Given the description of an element on the screen output the (x, y) to click on. 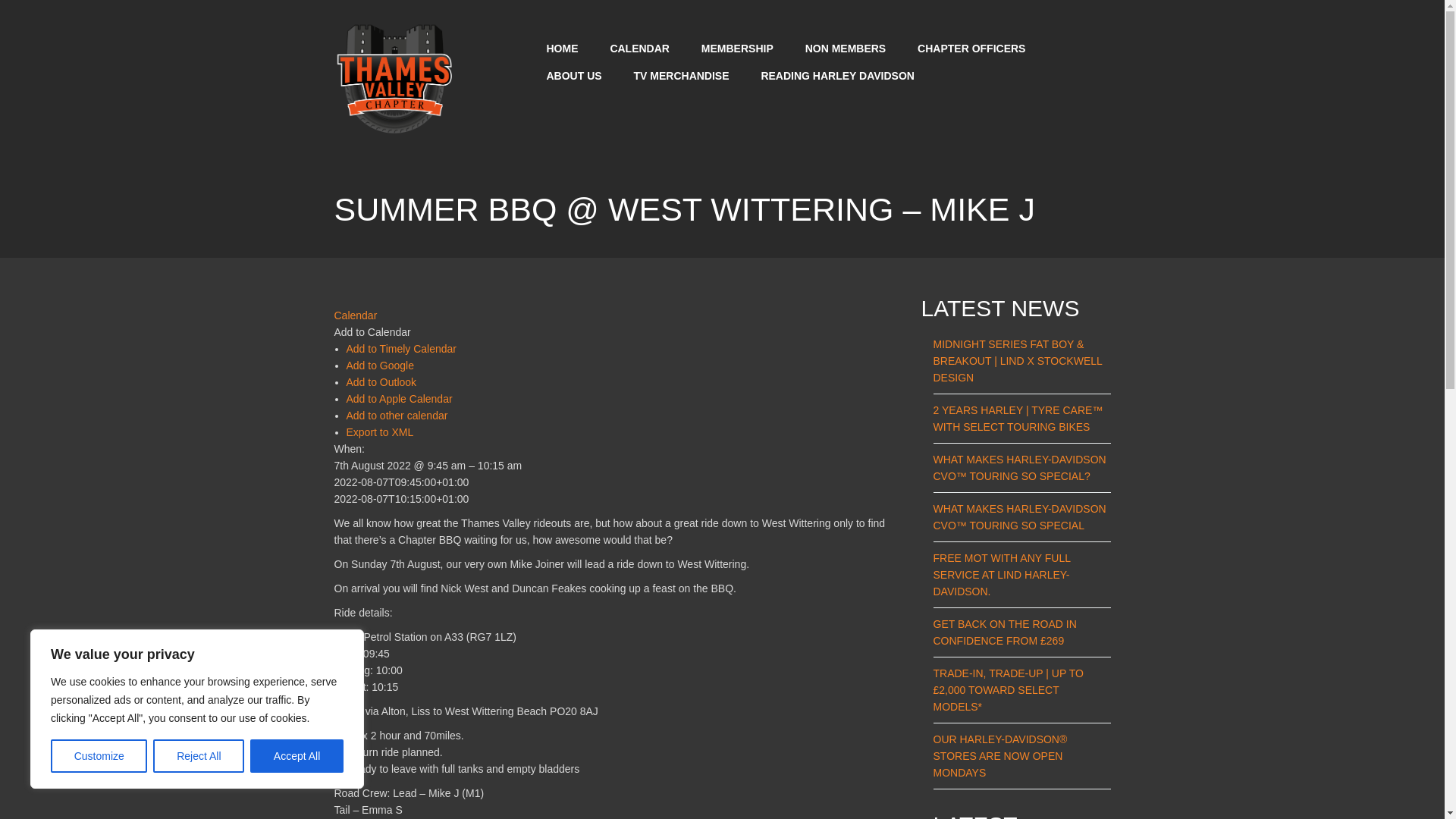
Add to Google (373, 365)
Export to XML (382, 431)
Calendar (358, 315)
TV MERCHANDISE (677, 67)
HOME (557, 40)
Add to Apple Calendar (398, 398)
ABOUT US (569, 67)
FREE MOT WITH ANY FULL SERVICE AT LIND HARLEY-DAVIDSON. (1001, 574)
NON MEMBERS (841, 40)
Reject All (198, 756)
